Given the description of an element on the screen output the (x, y) to click on. 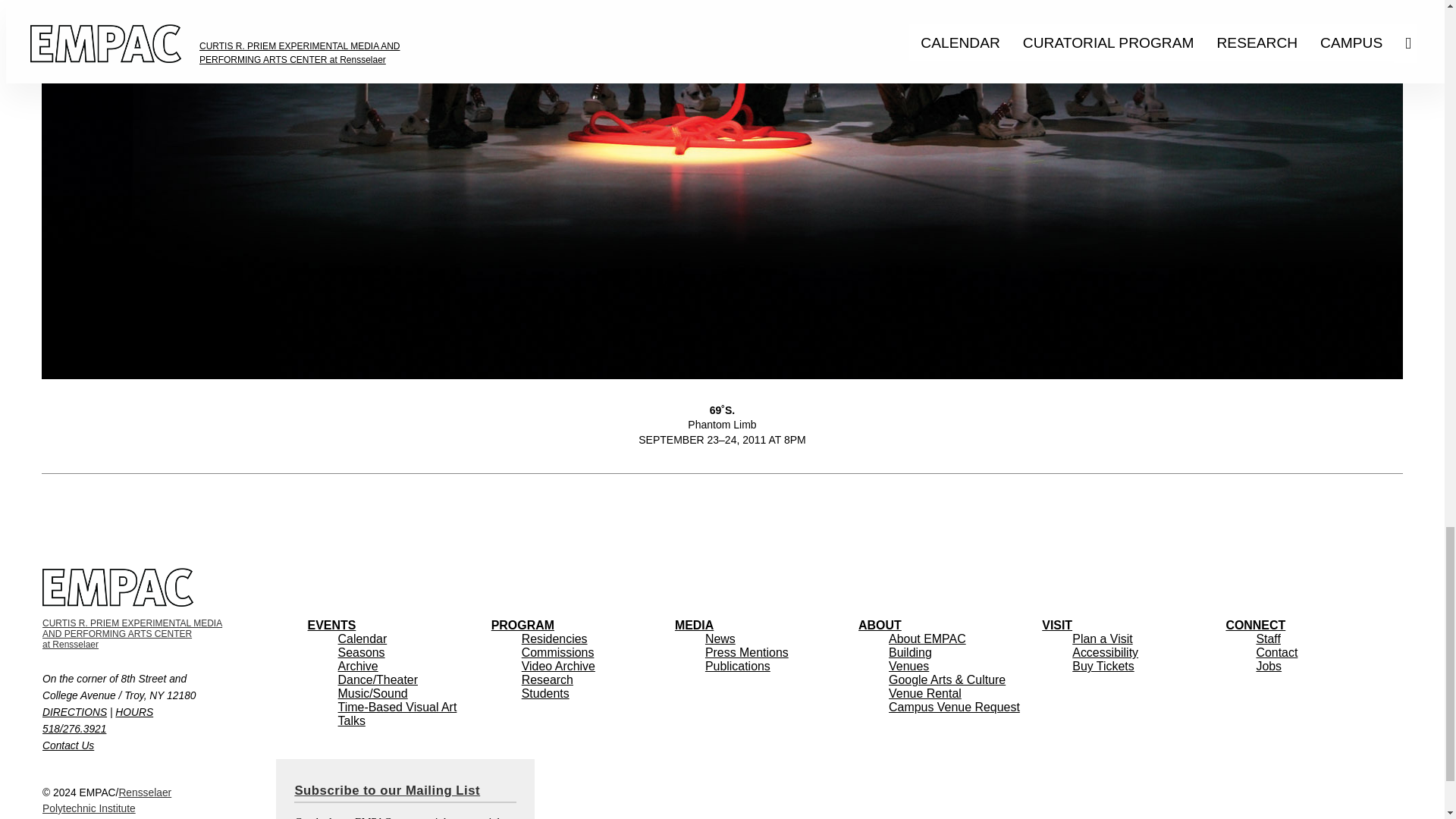
Video Archive (557, 665)
HOURS (133, 712)
Contact Us (68, 745)
Time-Based Visual Art Events (106, 800)
Music and Sound events (397, 706)
DIRECTIONS (372, 692)
Talks and Lectures (74, 712)
